Given the description of an element on the screen output the (x, y) to click on. 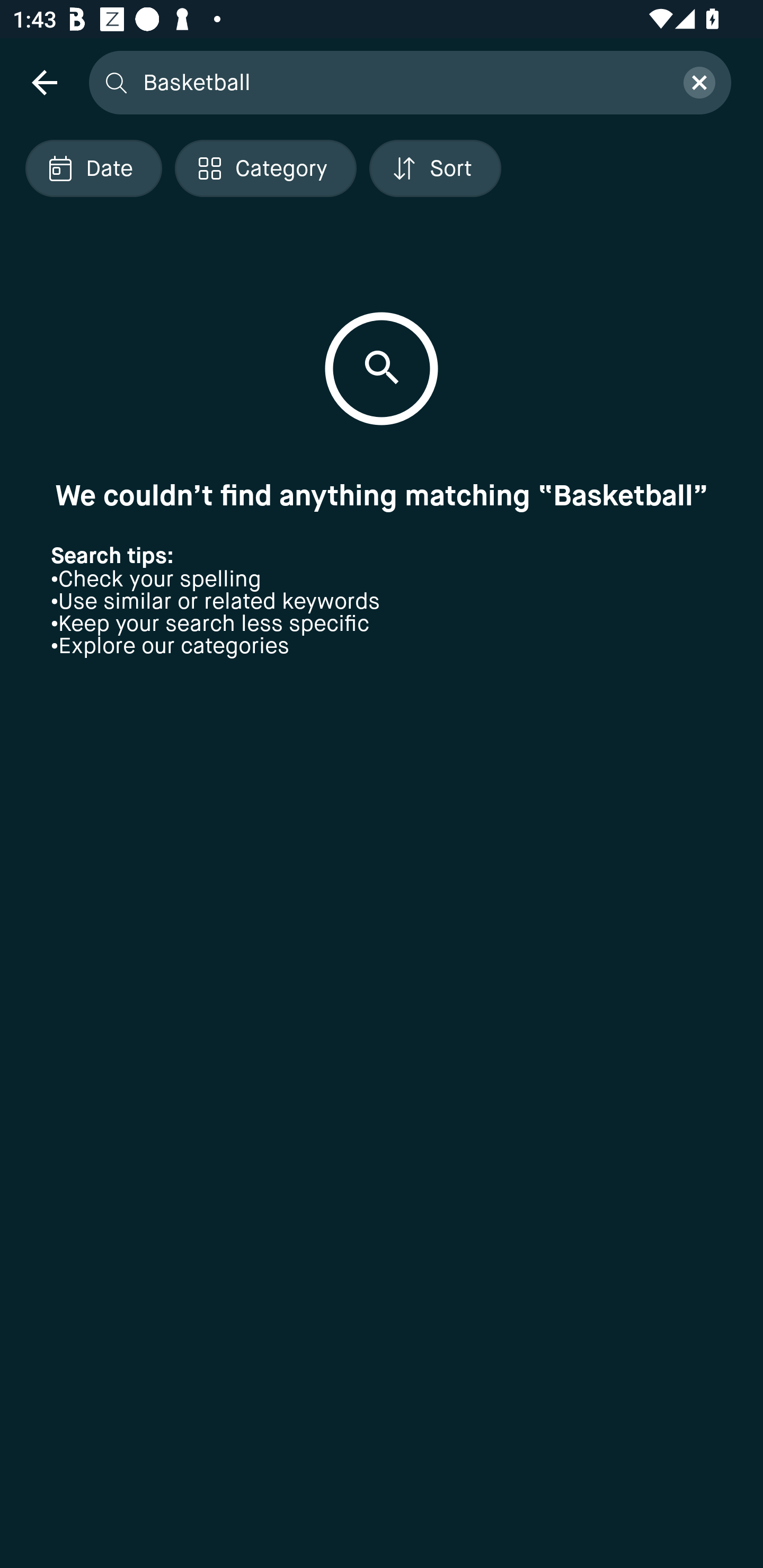
navigation icon (44, 81)
Basketball (402, 81)
Localized description Date (93, 168)
Localized description Category (265, 168)
Localized description Sort (435, 168)
We couldn’t find anything matching “Basketball” (381, 495)
